Given the description of an element on the screen output the (x, y) to click on. 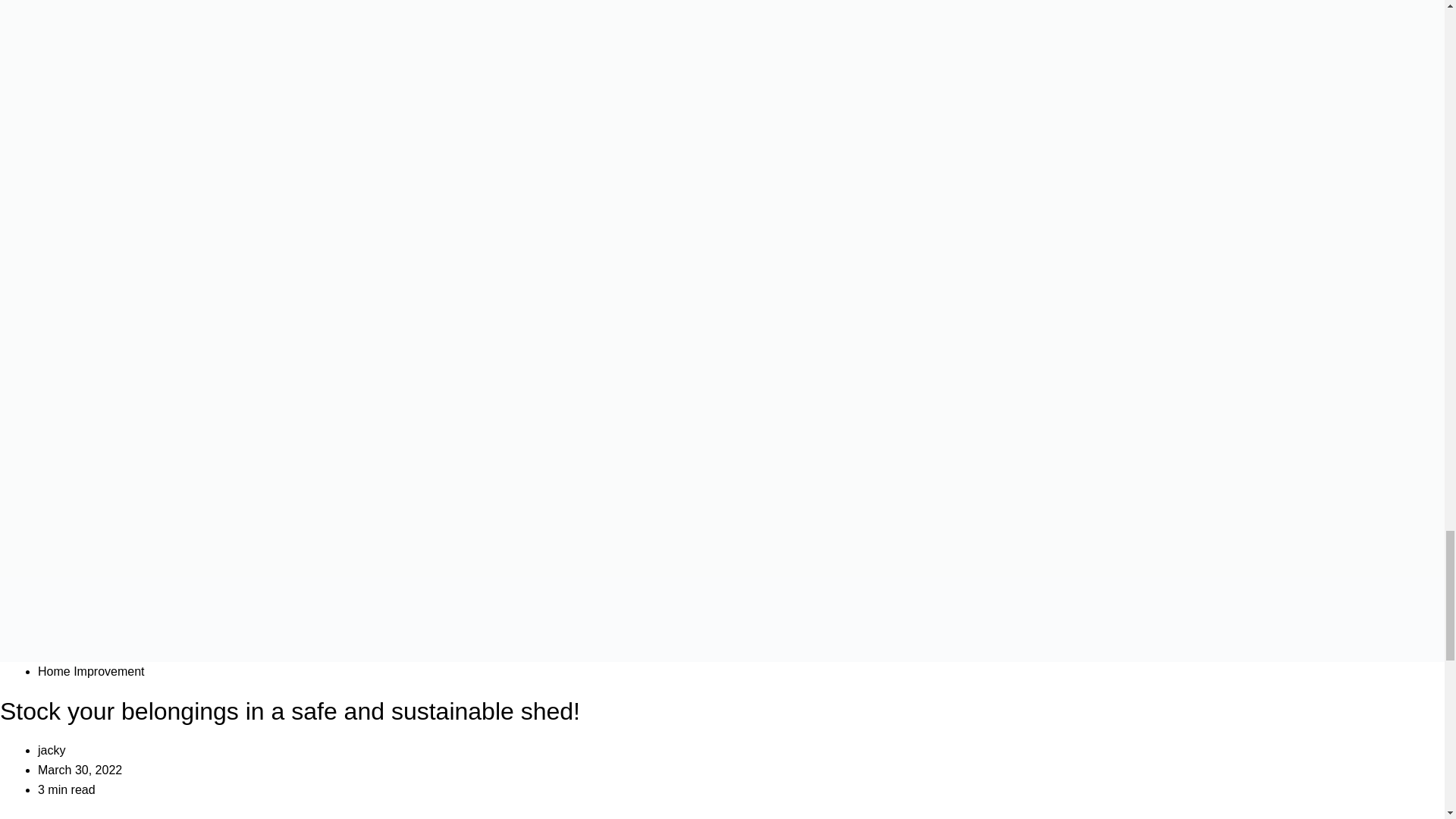
jacky (51, 749)
Home Improvement (90, 671)
Stock your belongings in a safe and sustainable shed! (289, 710)
